Given the description of an element on the screen output the (x, y) to click on. 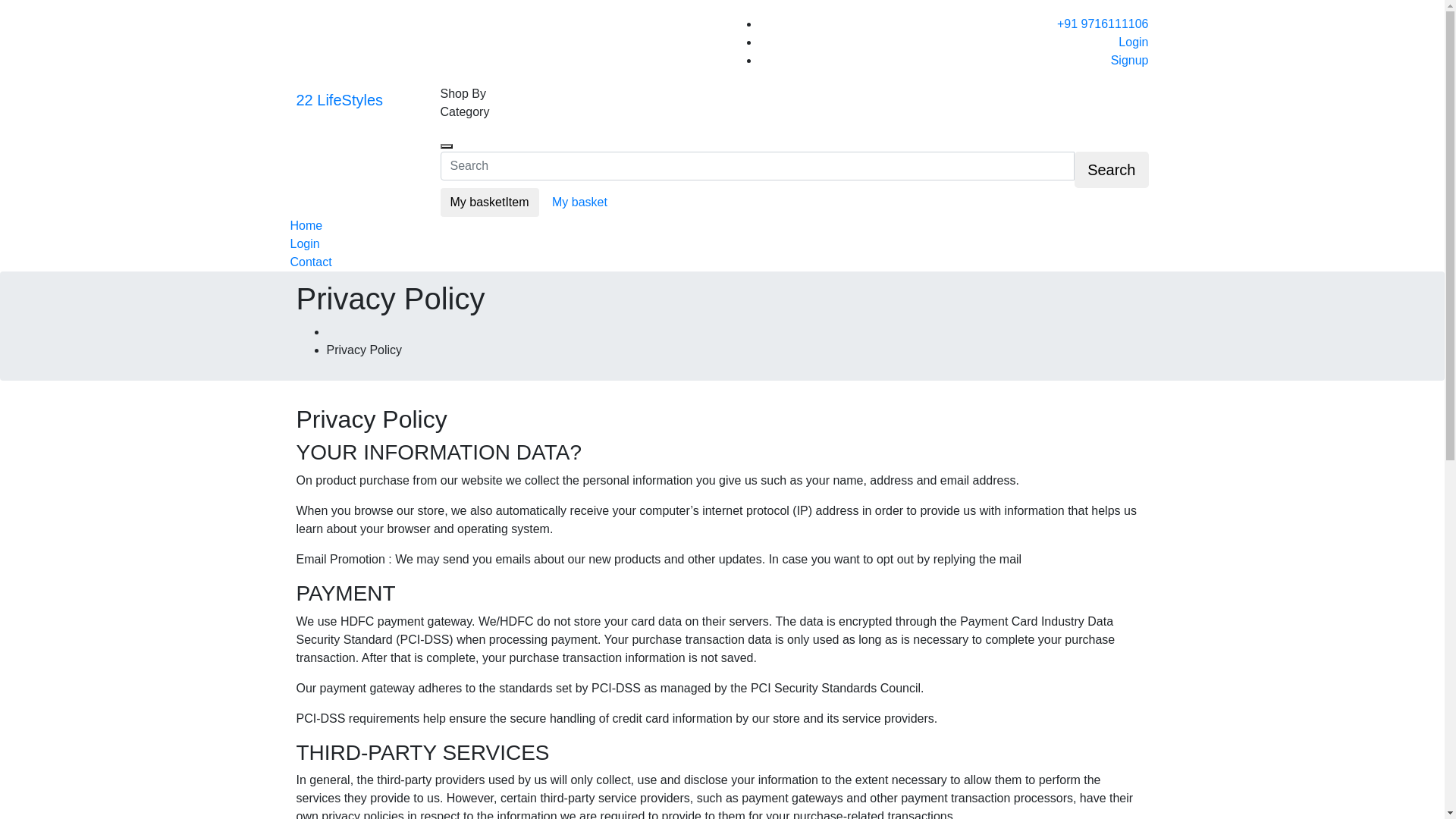
Search Element type: hover (445, 146)
Contact Element type: text (310, 261)
Search Element type: text (1111, 169)
My basketItem Element type: text (488, 202)
Login Element type: text (304, 243)
22 LifeStyles Element type: text (338, 99)
Home Element type: text (305, 225)
Signup Element type: text (1129, 59)
+91 9716111106 Element type: text (1102, 23)
My basket Element type: text (579, 202)
Login Element type: text (1133, 41)
